Given the description of an element on the screen output the (x, y) to click on. 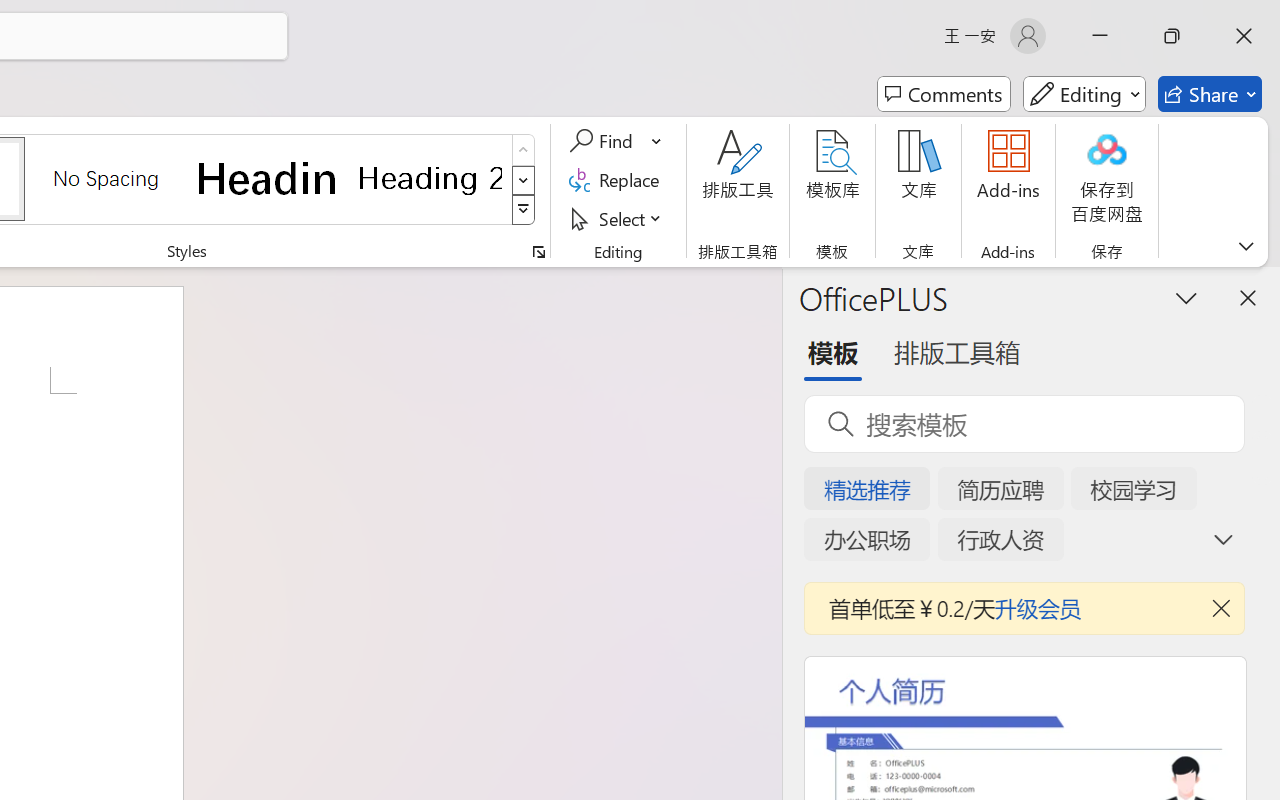
Close (1244, 36)
Share (1210, 94)
Find (604, 141)
Minimize (1099, 36)
Heading 2 (429, 178)
Find (616, 141)
Replace... (617, 179)
